Given the description of an element on the screen output the (x, y) to click on. 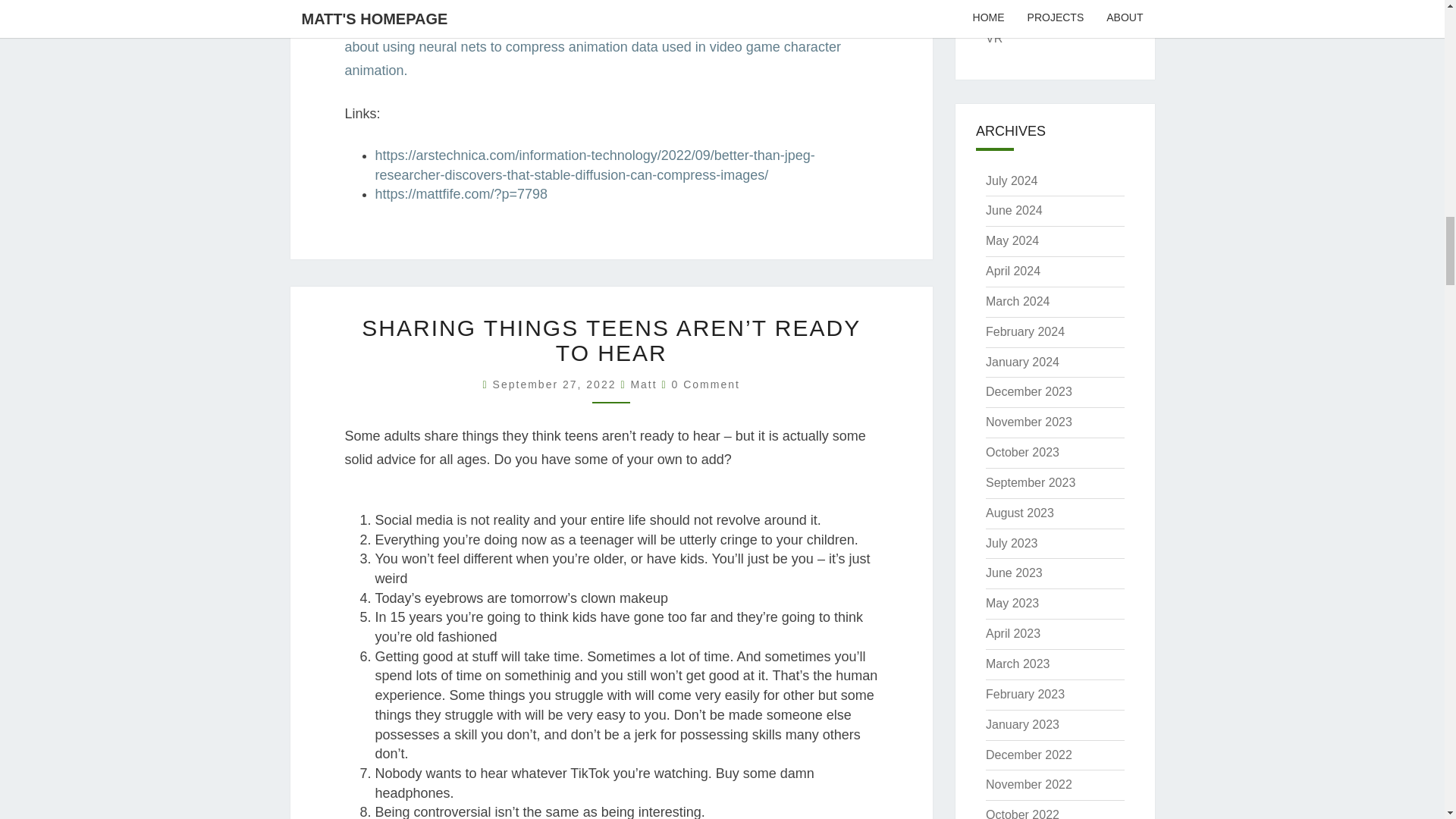
Matt (643, 384)
4:08 pm (557, 384)
September 27, 2022 (557, 384)
View all posts by matt (643, 384)
0 Comment (705, 384)
